Given the description of an element on the screen output the (x, y) to click on. 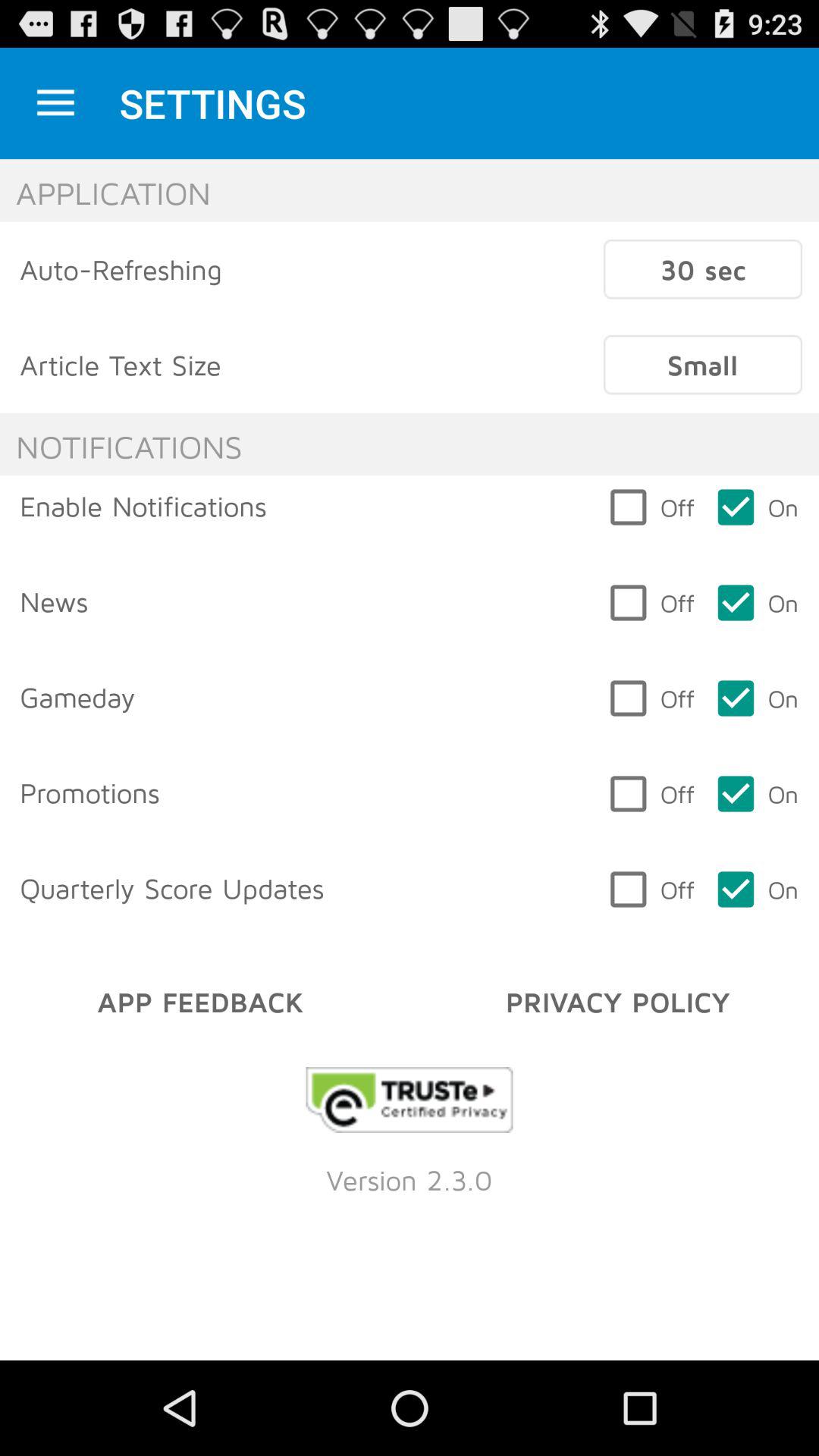
click the app to the left of the settings (55, 103)
